Given the description of an element on the screen output the (x, y) to click on. 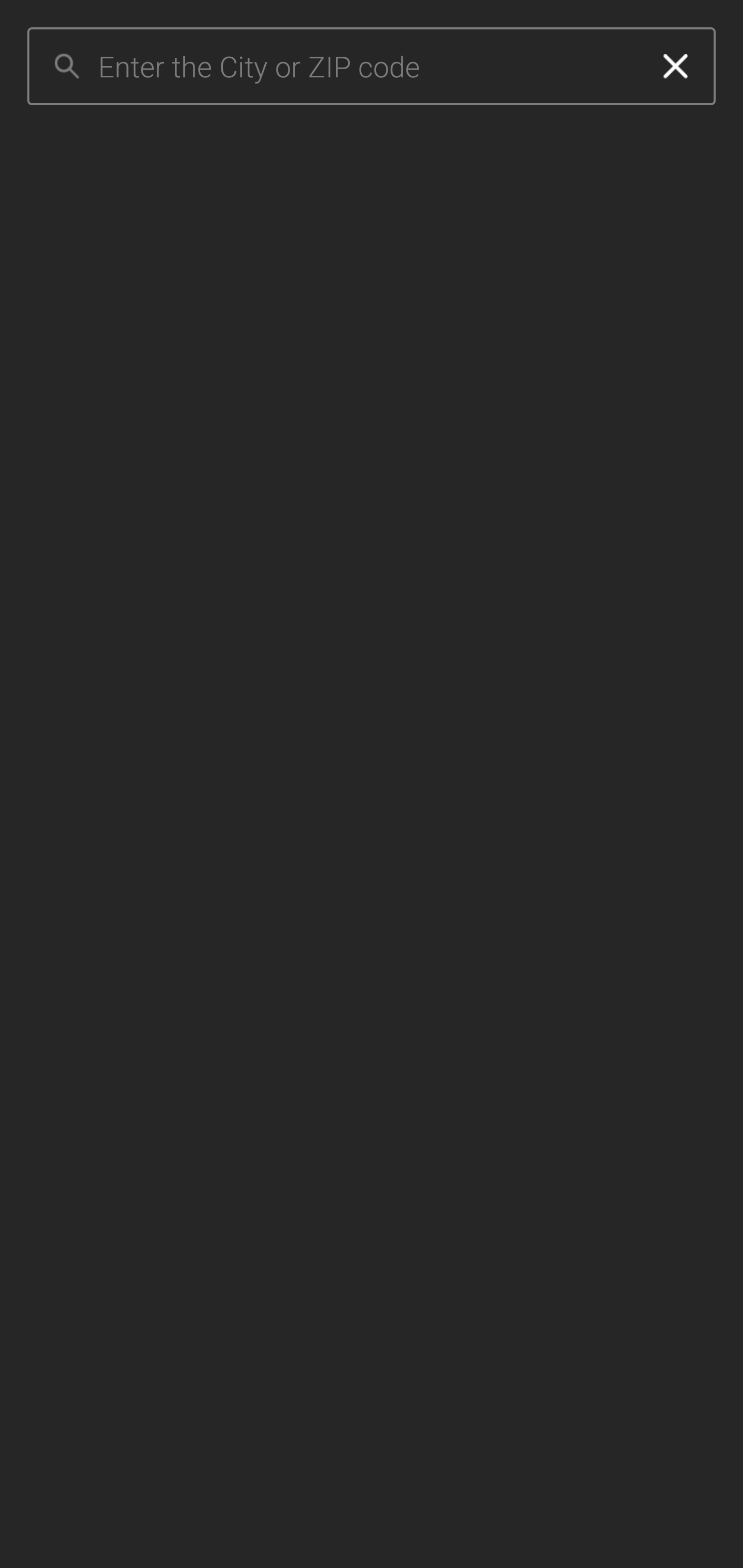
Enter the City or ZIP code (367, 66)
